Given the description of an element on the screen output the (x, y) to click on. 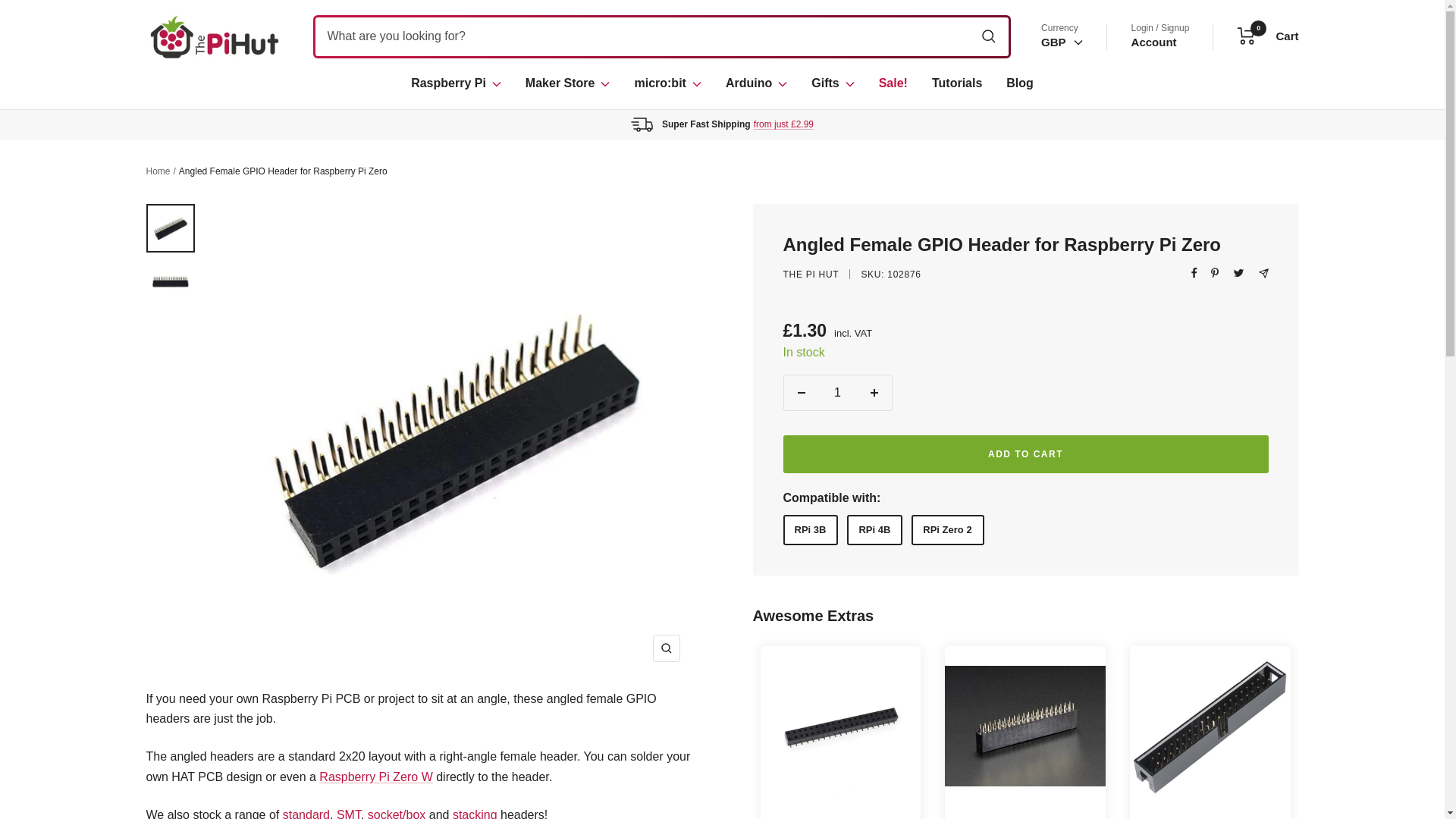
GBP (1062, 42)
EUR (1058, 161)
The Pi Hut (213, 36)
Maker Store (567, 83)
Blog (1019, 83)
Account (1267, 36)
micro:bit (1153, 42)
GBP (666, 83)
Arduino (1058, 93)
CAD (756, 83)
GPIO Header (1058, 139)
1 (306, 813)
Raspberry Pi (837, 392)
GPIO socket (455, 83)
